Given the description of an element on the screen output the (x, y) to click on. 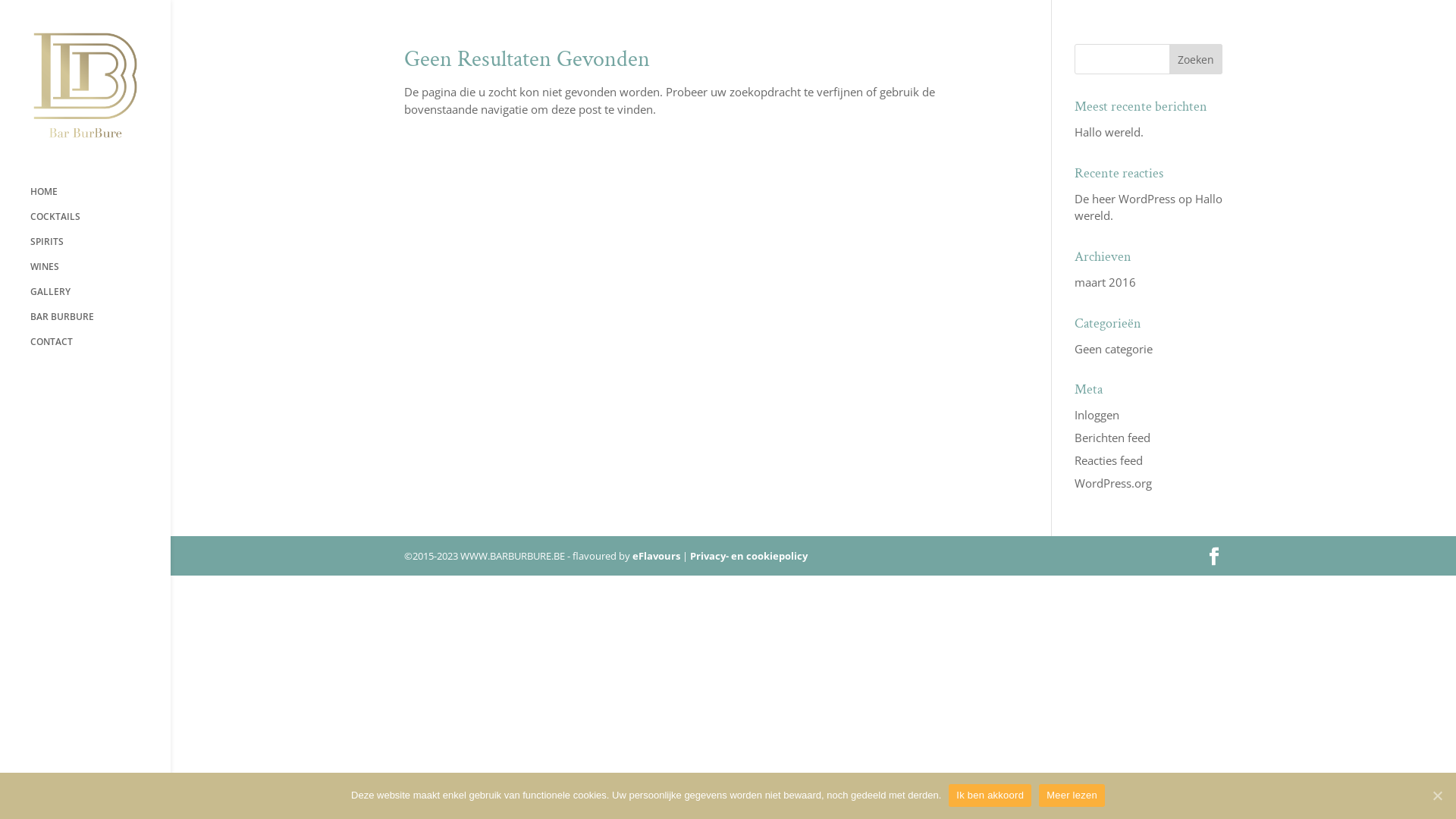
Geen categorie Element type: text (1113, 348)
HOME Element type: text (100, 198)
Inloggen Element type: text (1096, 414)
Hallo wereld. Element type: text (1108, 131)
Hallo wereld. Element type: text (1148, 207)
BAR BURBURE Element type: text (100, 323)
WordPress.org Element type: text (1112, 482)
eFlavours Element type: text (656, 555)
CONTACT Element type: text (100, 348)
WINES Element type: text (100, 273)
GALLERY Element type: text (100, 298)
Zoeken Element type: text (1195, 58)
Reacties feed Element type: text (1108, 459)
Berichten feed Element type: text (1112, 437)
SPIRITS Element type: text (100, 248)
De heer WordPress Element type: text (1124, 198)
Ik ben akkoord Element type: text (989, 795)
Meer lezen Element type: text (1071, 795)
COCKTAILS Element type: text (100, 223)
Privacy- en cookiepolicy Element type: text (748, 555)
maart 2016 Element type: text (1104, 281)
